Given the description of an element on the screen output the (x, y) to click on. 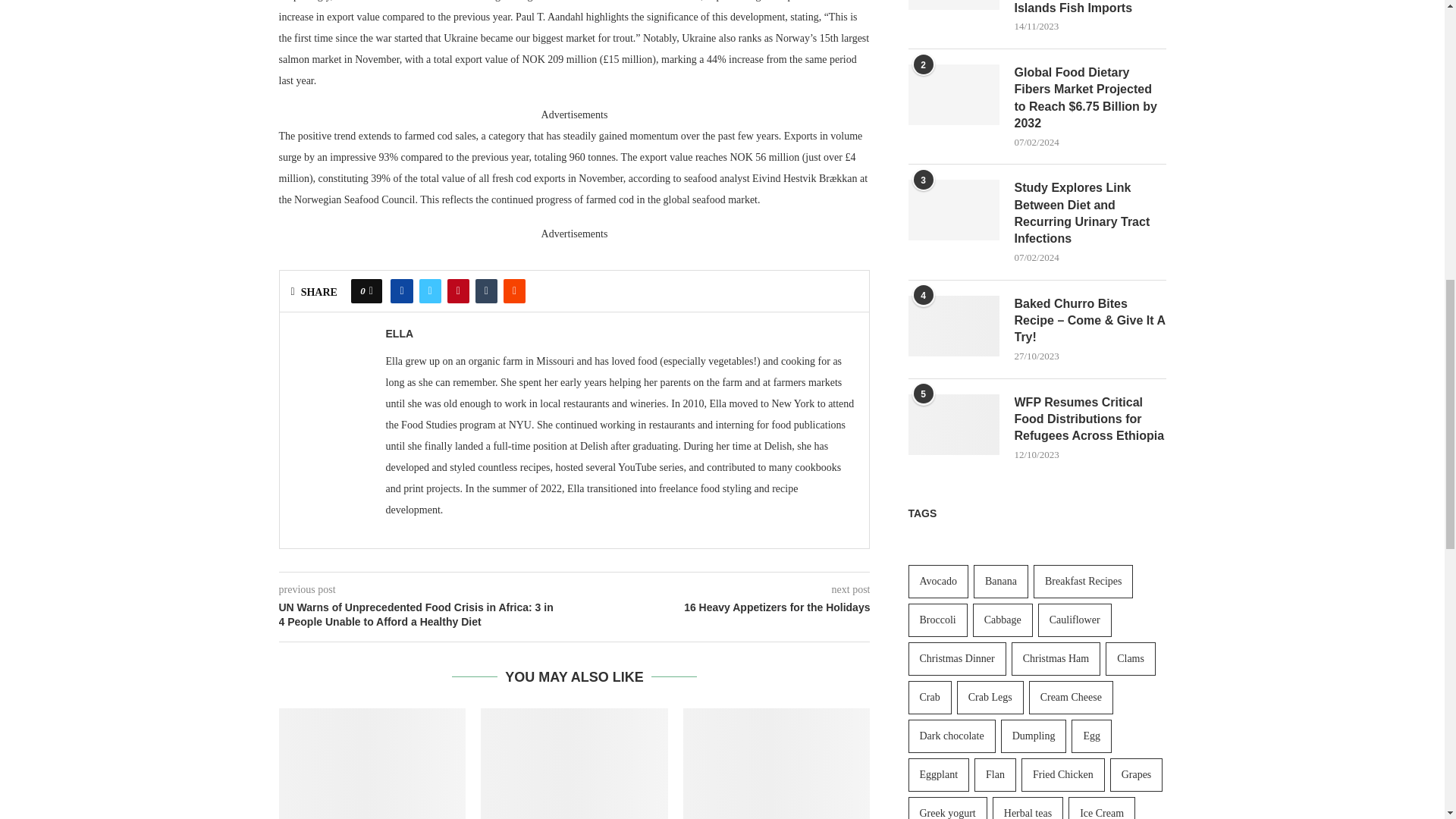
Author Ella (399, 333)
